Given the description of an element on the screen output the (x, y) to click on. 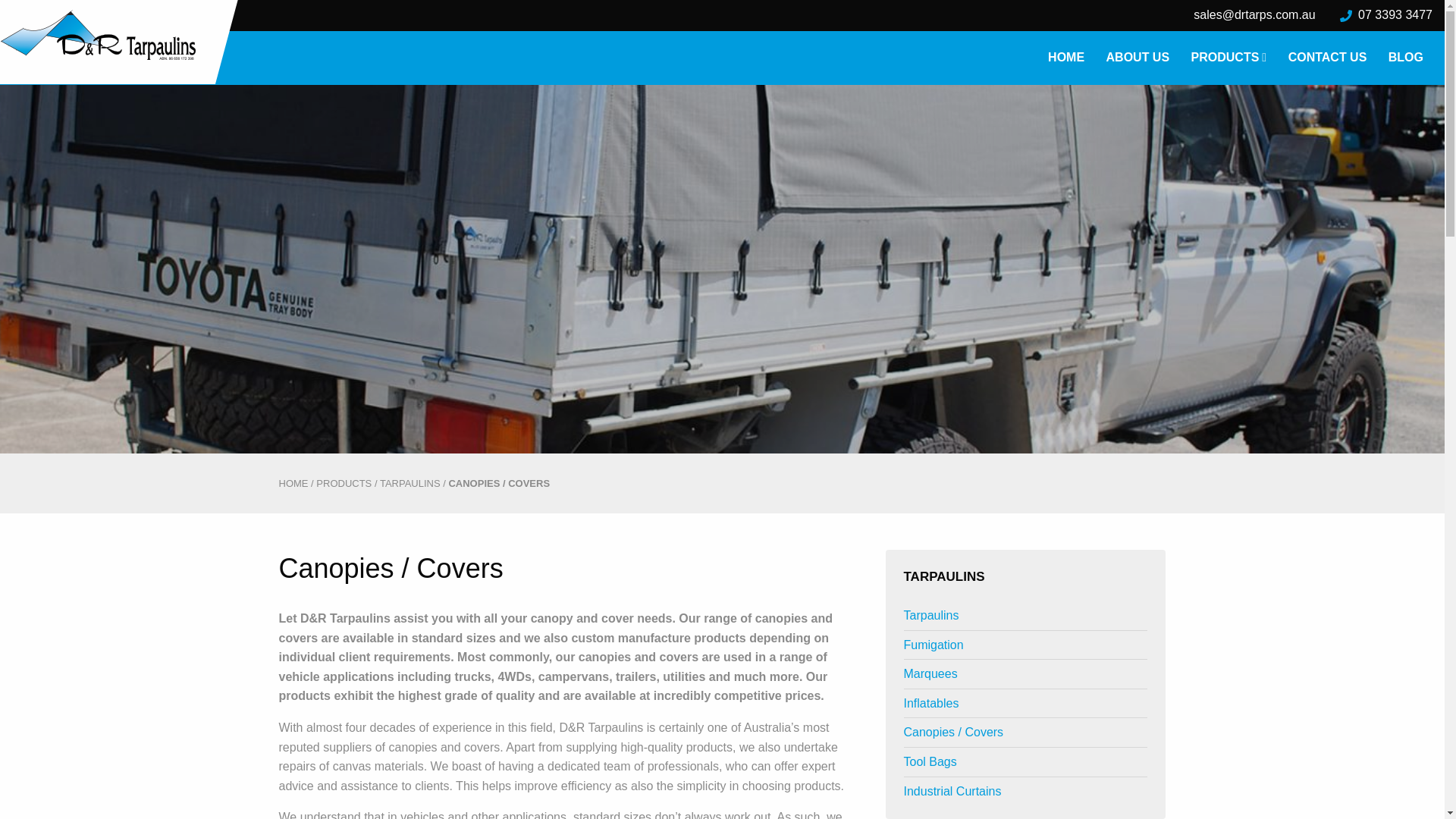
Tarpaulins Element type: text (931, 614)
Industrial Curtains Element type: text (952, 790)
TARPAULINS Element type: text (409, 483)
ABOUT US Element type: text (1138, 57)
HOME Element type: text (1065, 57)
PRODUCTS Element type: text (1229, 57)
sales@drtarps.com.au Element type: text (1254, 15)
HOME Element type: text (293, 483)
CONTACT US Element type: text (1327, 57)
PRODUCTS Element type: text (343, 483)
Inflatables Element type: text (931, 702)
Fumigation Element type: text (933, 644)
Canopies / Covers Element type: text (953, 731)
BLOG Element type: text (1405, 57)
07 3393 3477 Element type: text (1385, 15)
Marquees Element type: text (930, 673)
Tool Bags Element type: text (930, 761)
